Given the description of an element on the screen output the (x, y) to click on. 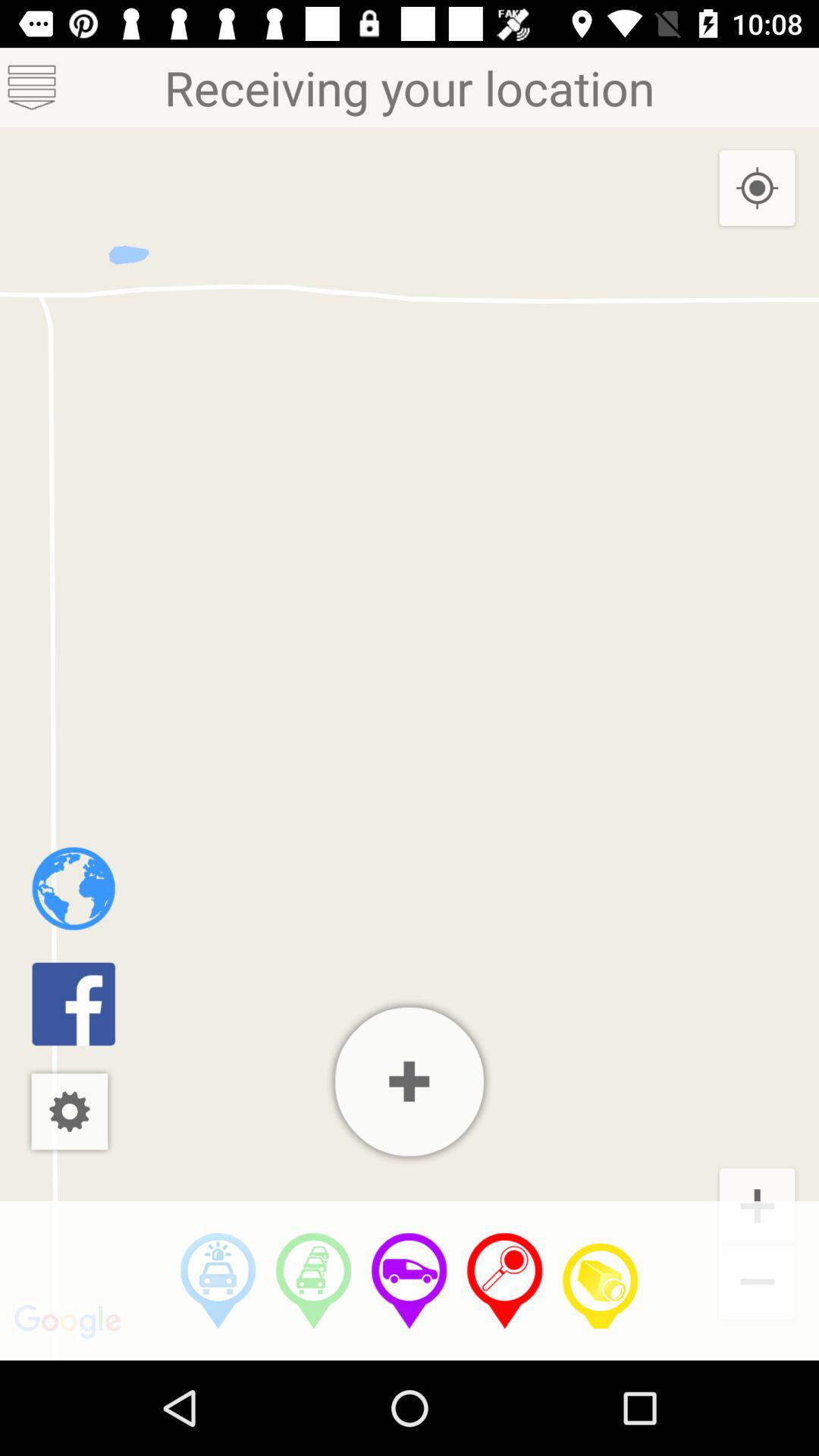
press the item below receiving your location (73, 888)
